Given the description of an element on the screen output the (x, y) to click on. 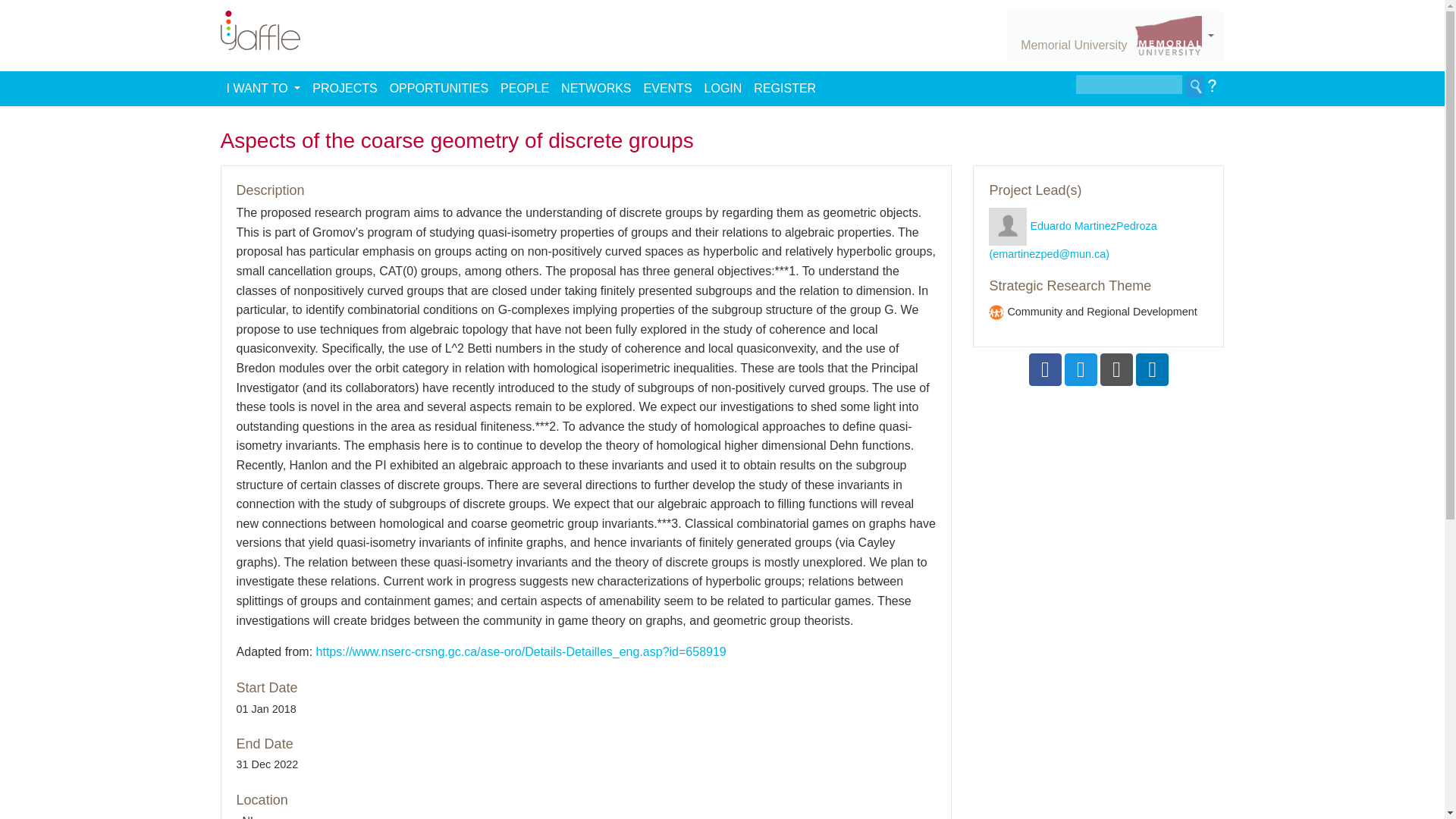
Twitter (1080, 368)
Facebook (1045, 368)
Mail (1116, 368)
PEOPLE (524, 88)
LOGIN (723, 88)
PROJECTS (345, 88)
Memorial University (1115, 35)
LinkedIn (1152, 368)
REGISTER (784, 88)
EVENTS (668, 88)
OPPORTUNITIES (438, 88)
NETWORKS (595, 88)
I WANT TO (264, 88)
